Given the description of an element on the screen output the (x, y) to click on. 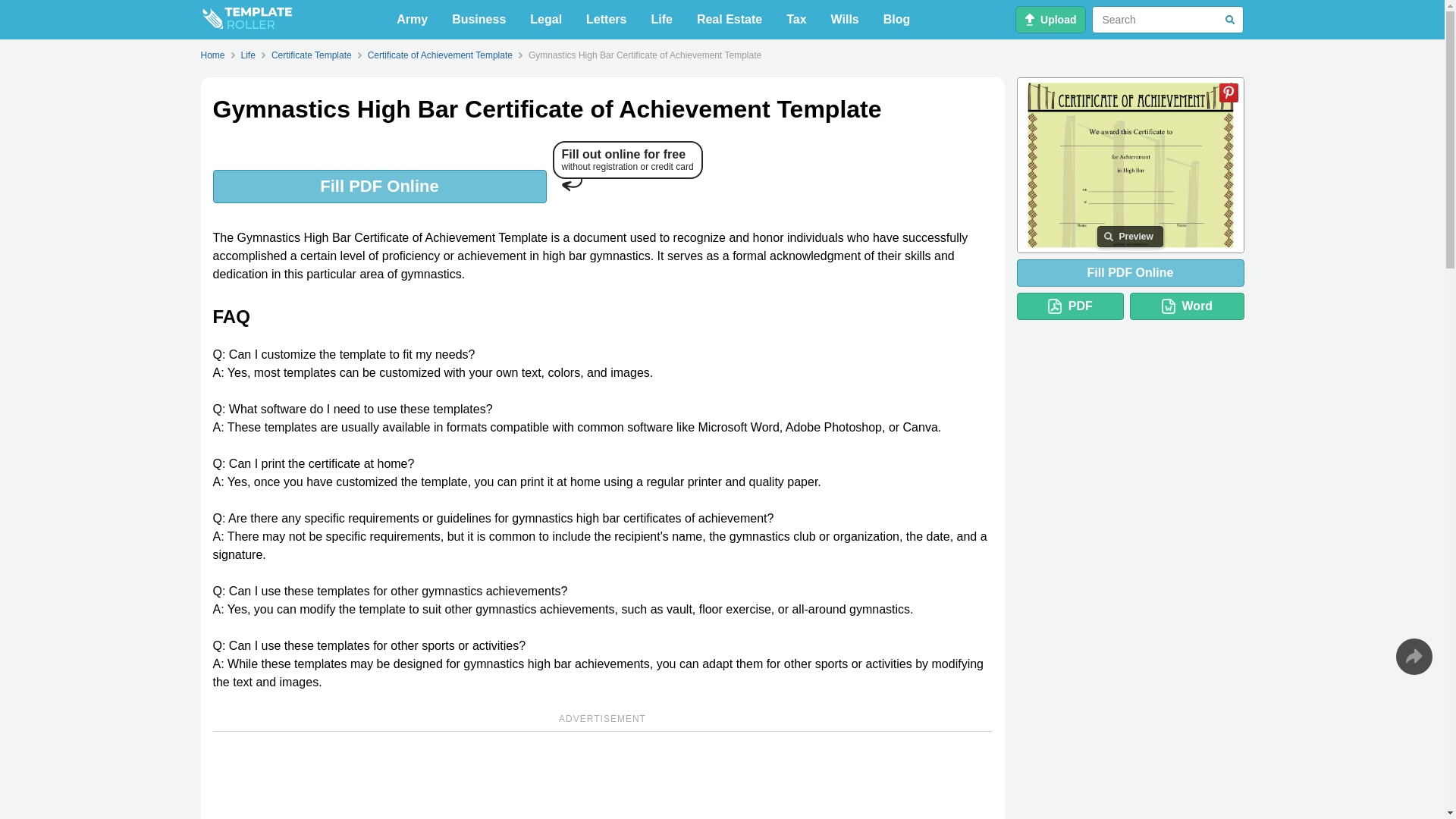
Real Estate (729, 19)
Letters (605, 19)
Fill PDF Online (379, 186)
Wills (844, 19)
Life (661, 19)
Legal (545, 19)
Tax (796, 19)
Life (661, 19)
Tax (796, 19)
